Given the description of an element on the screen output the (x, y) to click on. 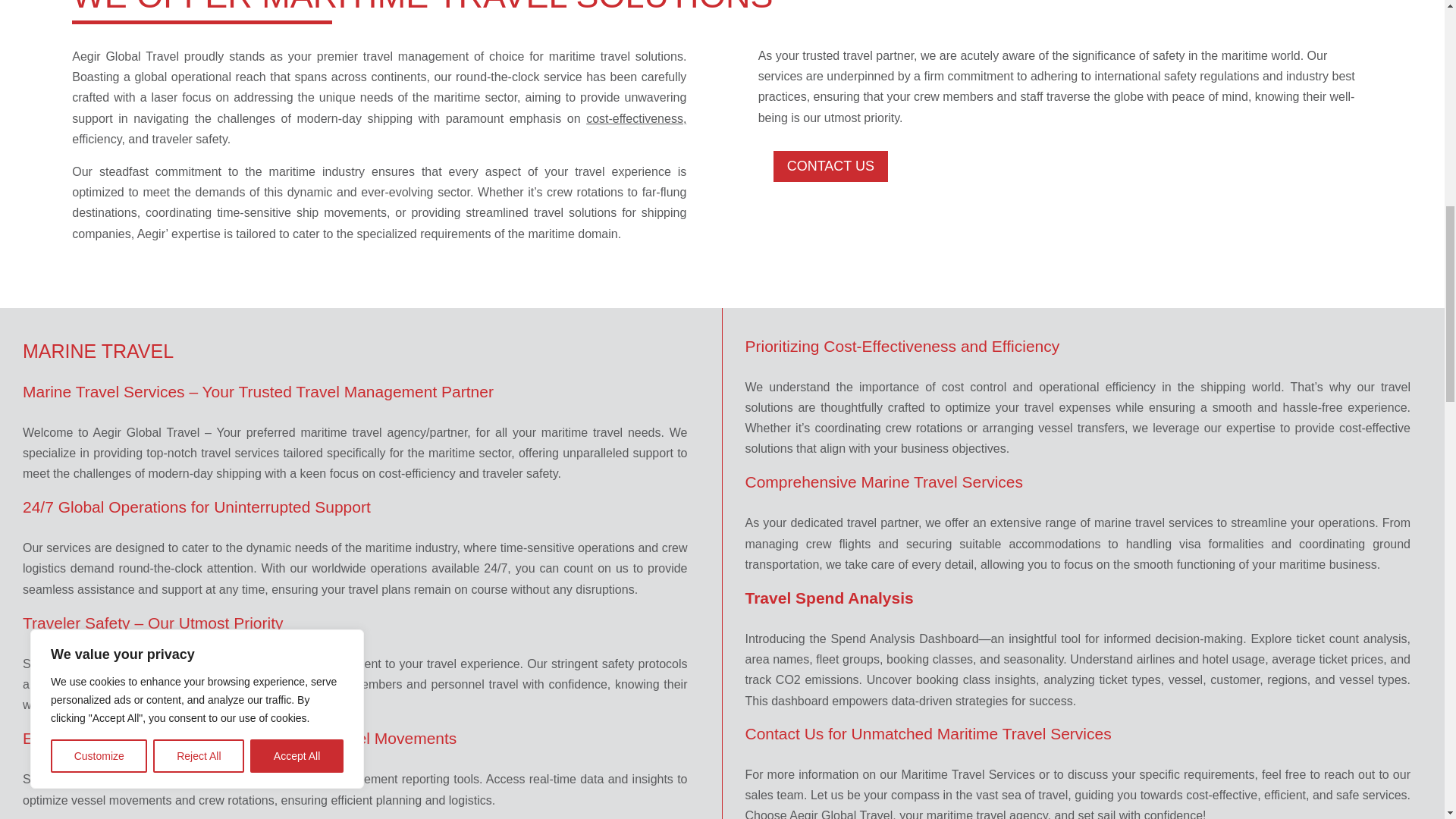
CONTACT US (830, 165)
